Given the description of an element on the screen output the (x, y) to click on. 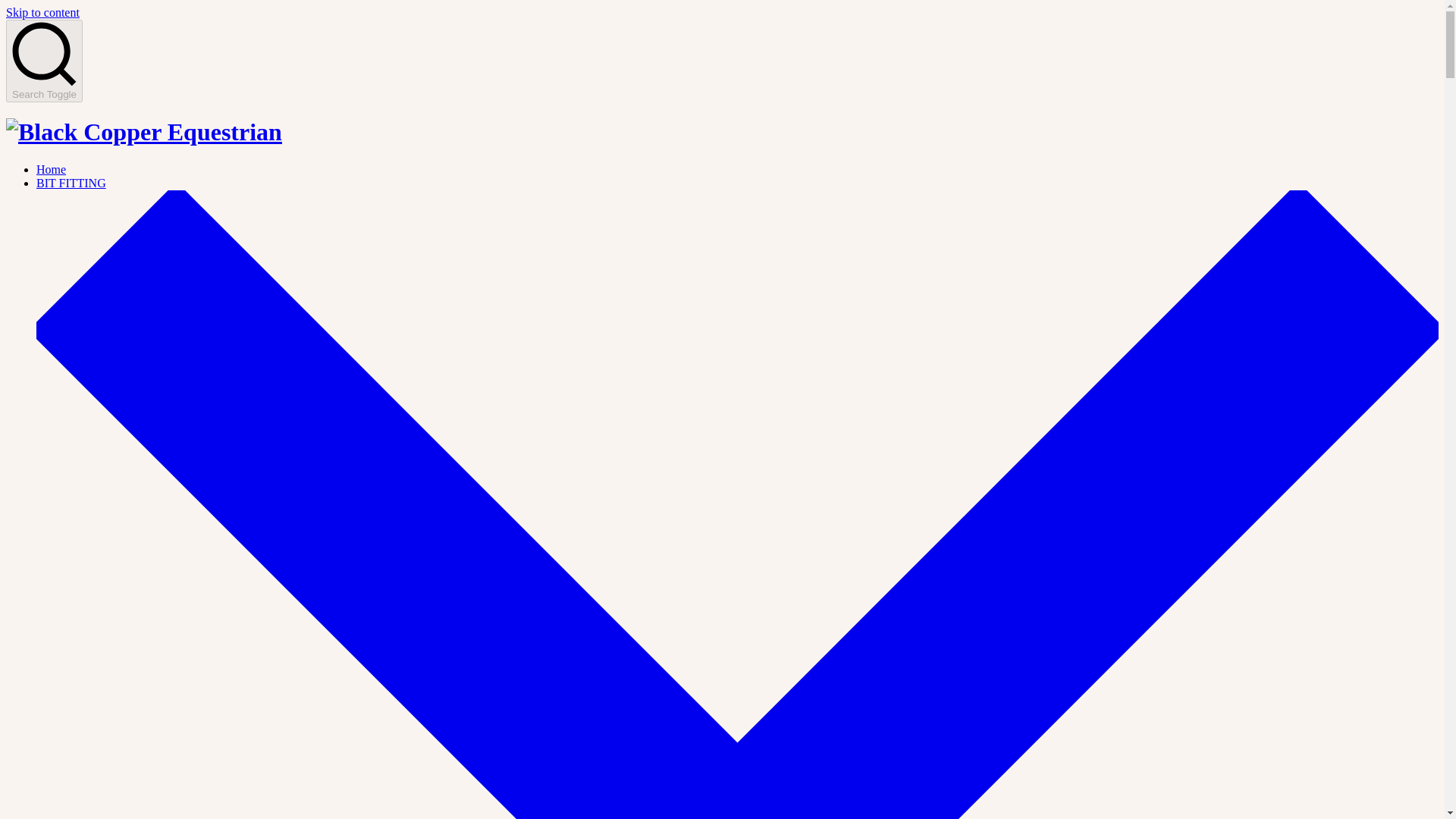
Home (50, 169)
Search Toggle (43, 60)
Skip to content (42, 11)
